Given the description of an element on the screen output the (x, y) to click on. 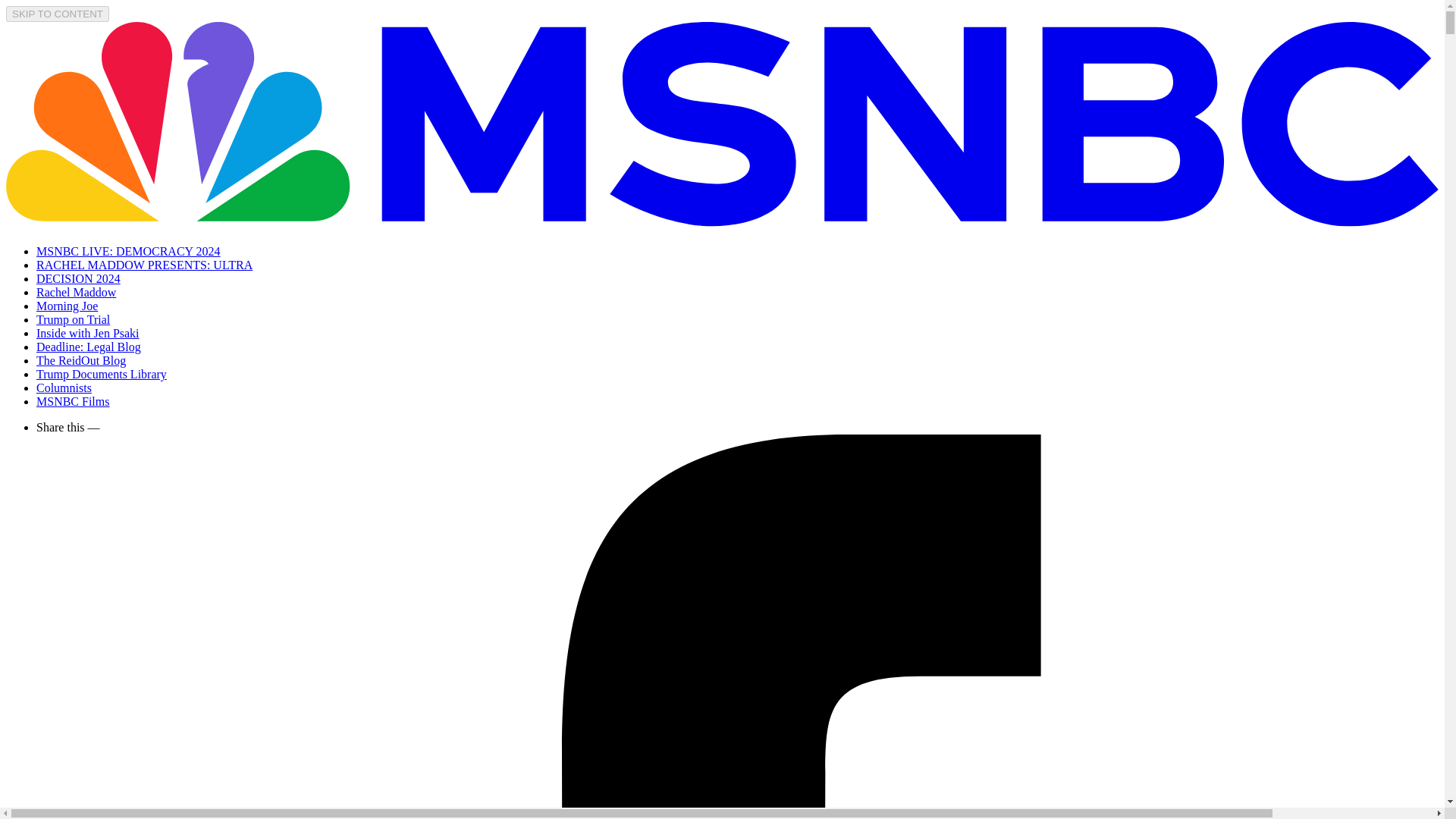
RACHEL MADDOW PRESENTS: ULTRA (143, 264)
Rachel Maddow (76, 291)
The ReidOut Blog (80, 359)
Trump Documents Library (101, 373)
Inside with Jen Psaki (87, 332)
Morning Joe (66, 305)
MSNBC Films (72, 400)
SKIP TO CONTENT (57, 13)
